Given the description of an element on the screen output the (x, y) to click on. 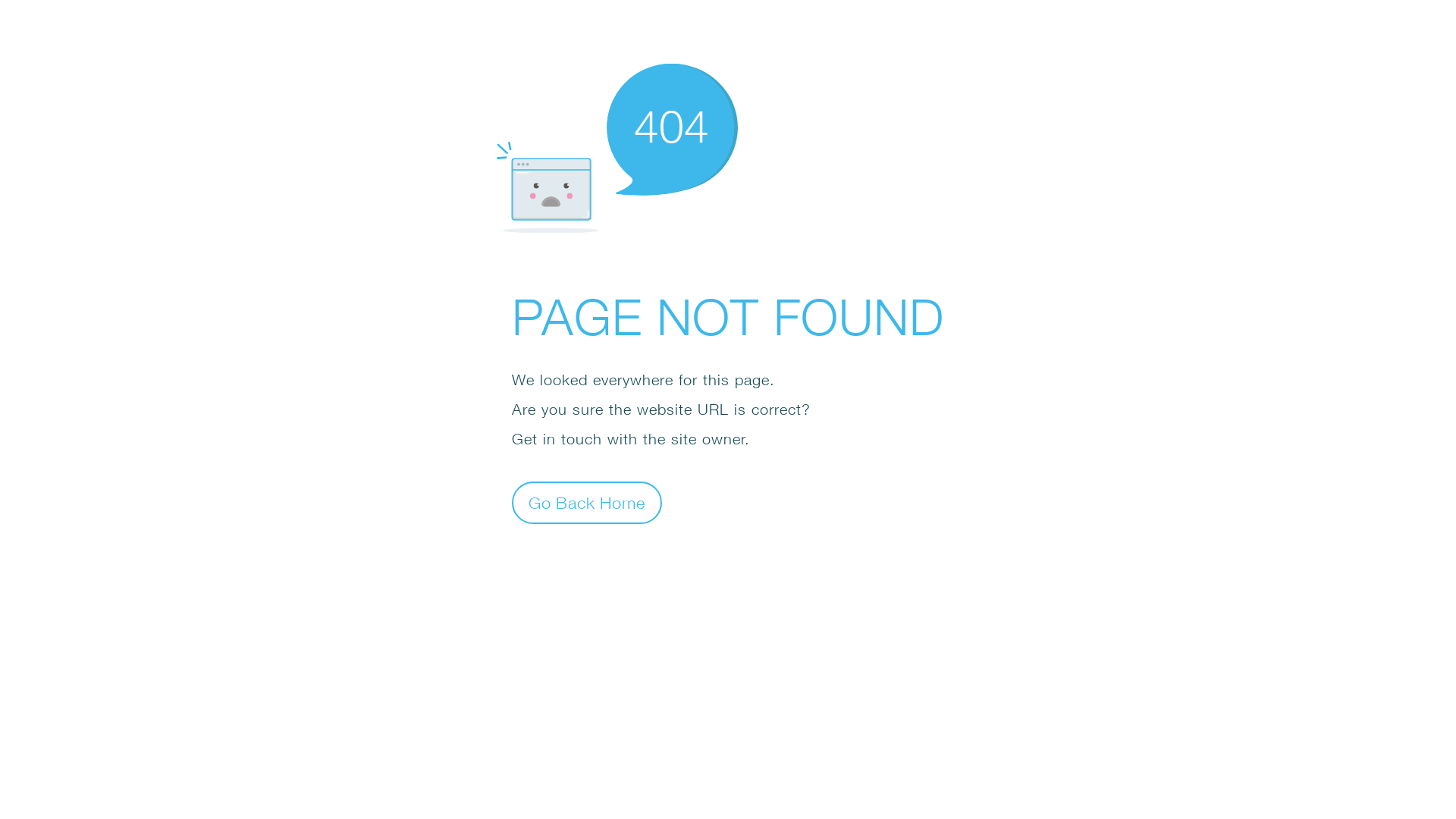
Go Back Home Element type: text (586, 502)
